Given the description of an element on the screen output the (x, y) to click on. 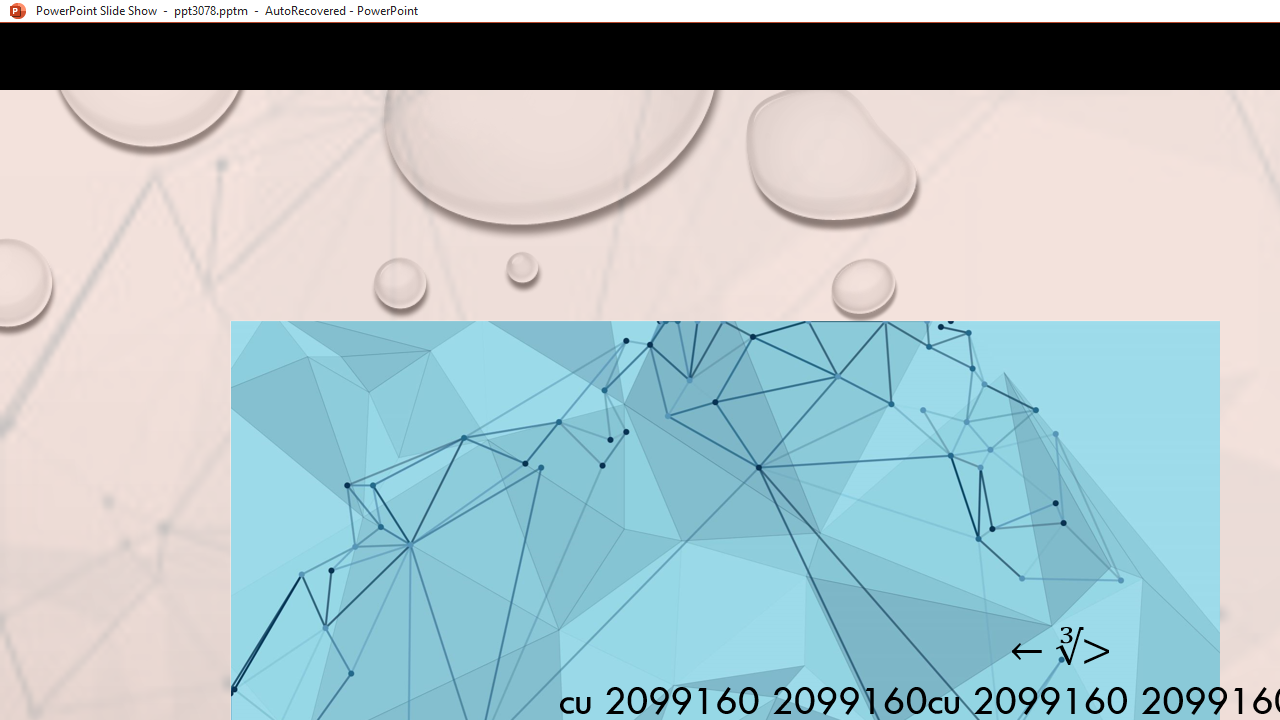
System (10, 11)
System (10, 11)
